Given the description of an element on the screen output the (x, y) to click on. 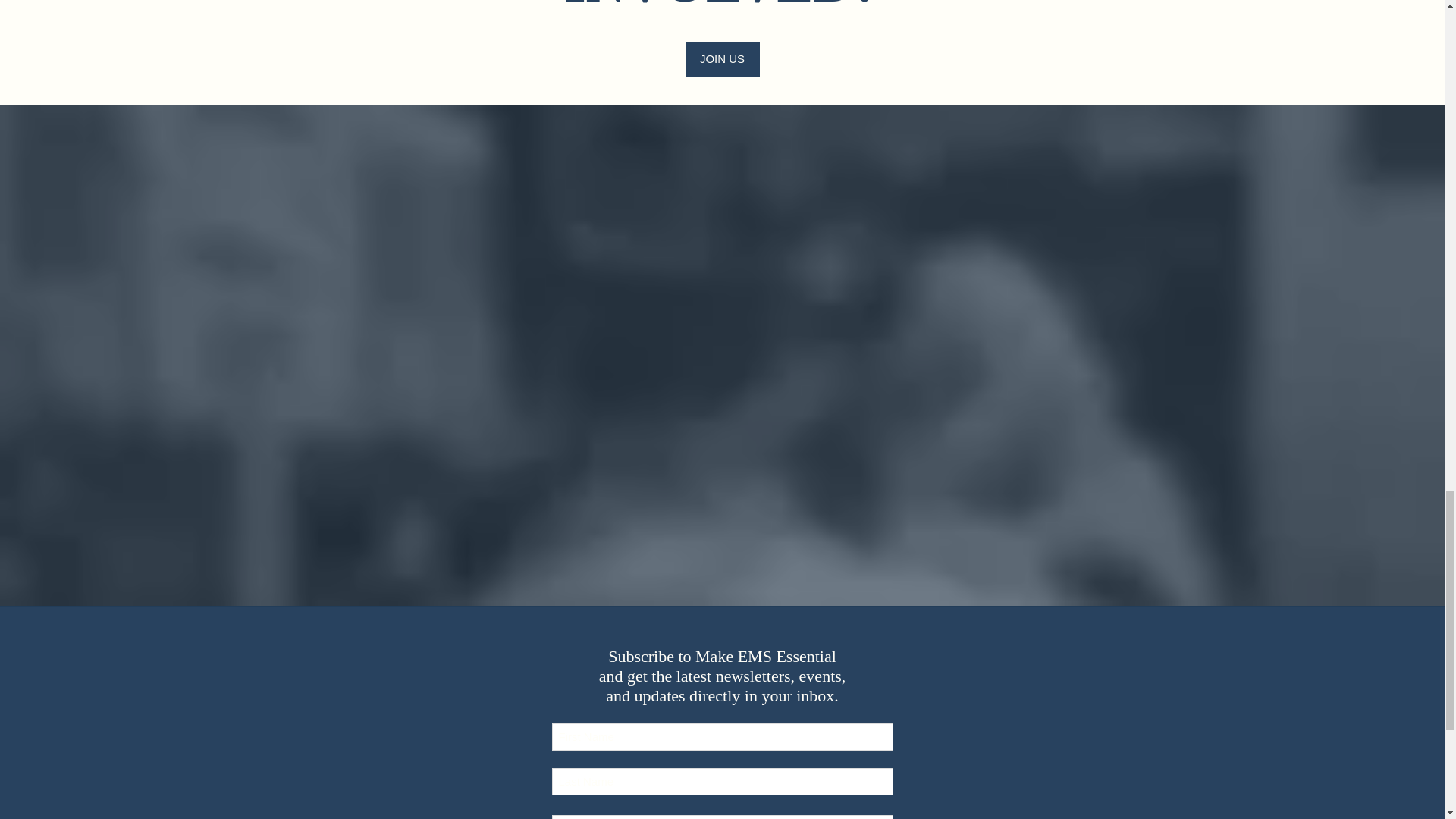
JOIN US (722, 59)
